Given the description of an element on the screen output the (x, y) to click on. 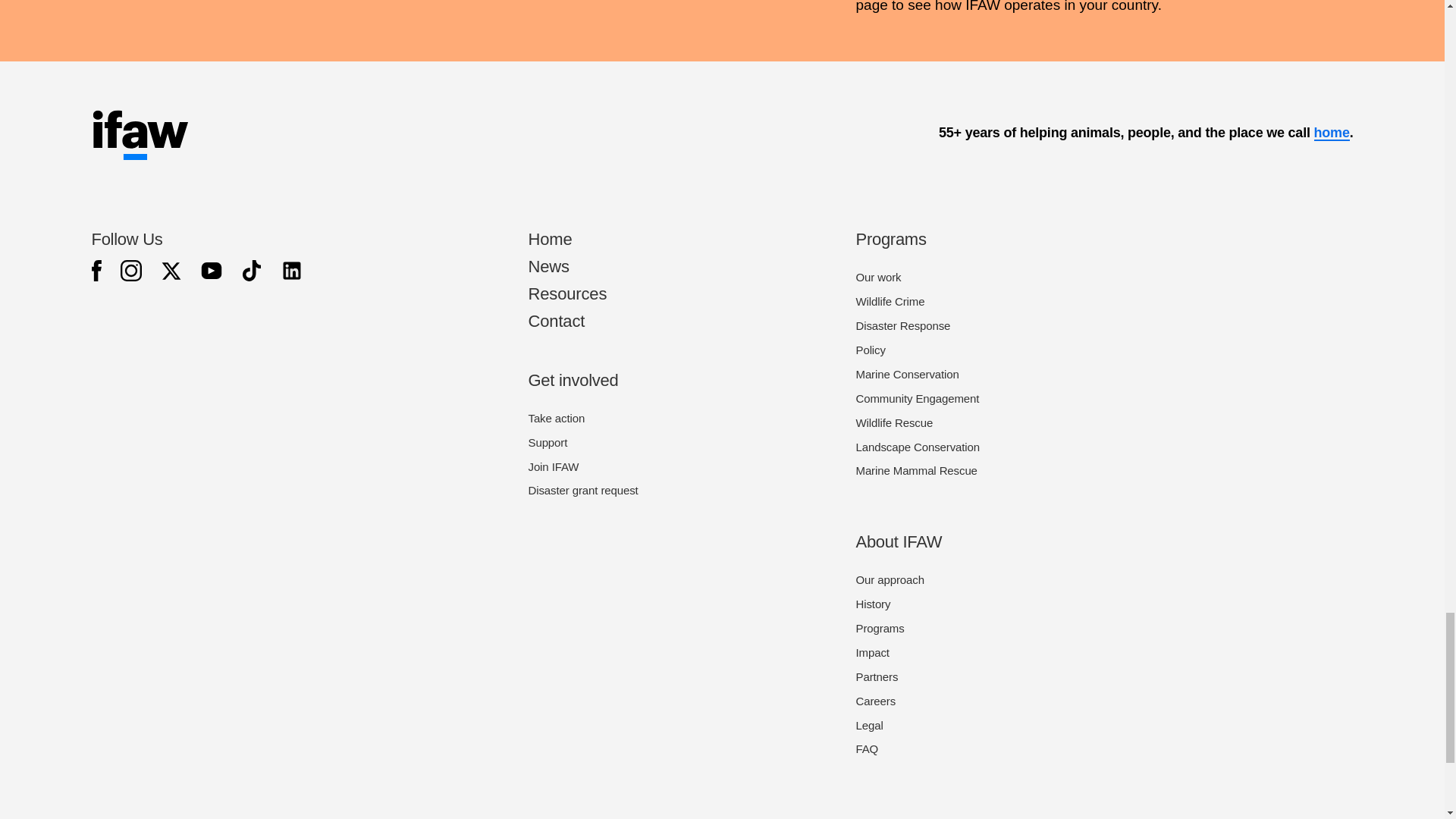
Take action (556, 418)
Home (549, 239)
News (548, 266)
home (1331, 132)
Contact (556, 321)
Resources (567, 293)
